Given the description of an element on the screen output the (x, y) to click on. 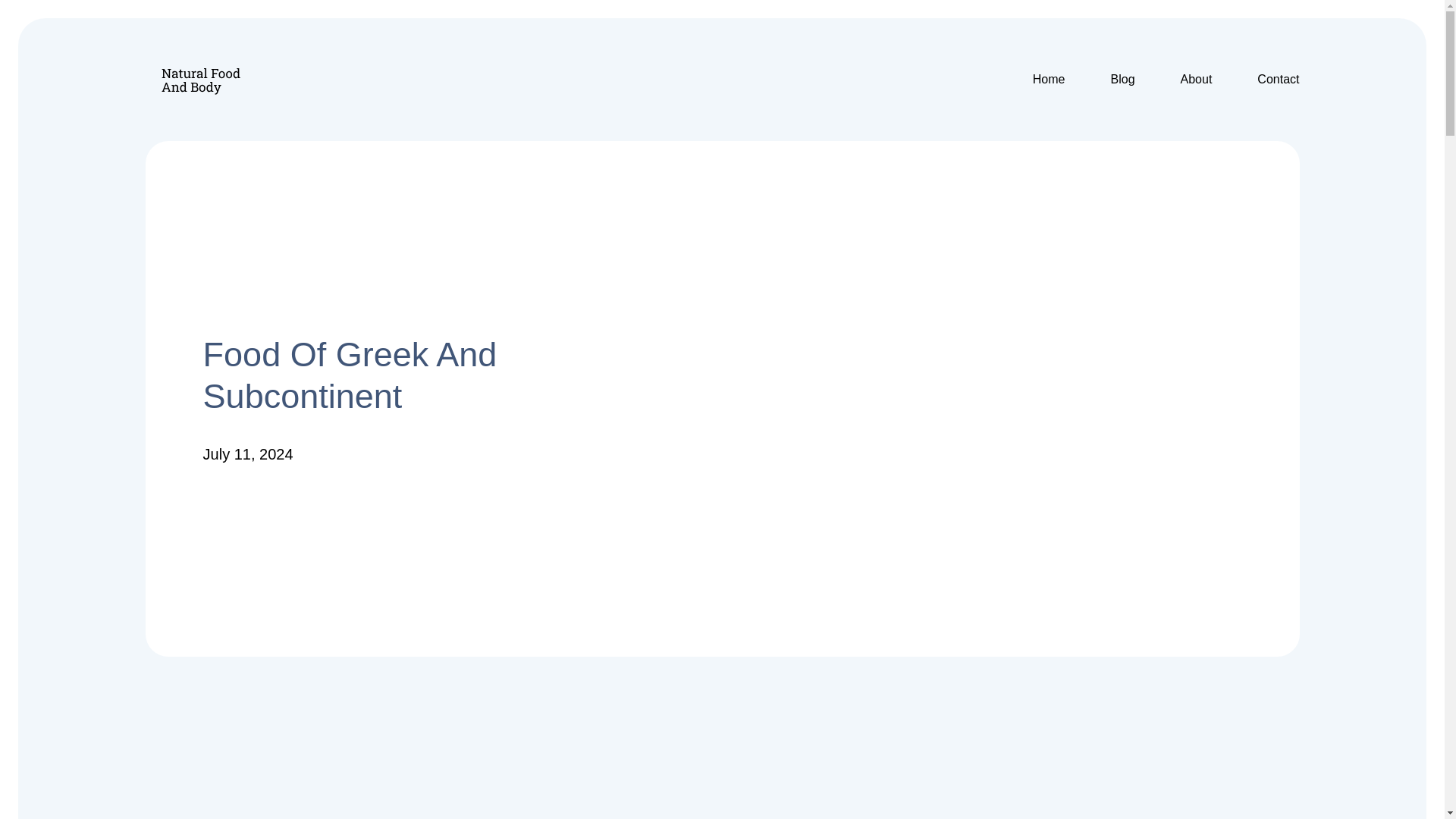
Home (1048, 79)
Contact (1277, 79)
Blog (1121, 79)
About (1196, 79)
